Given the description of an element on the screen output the (x, y) to click on. 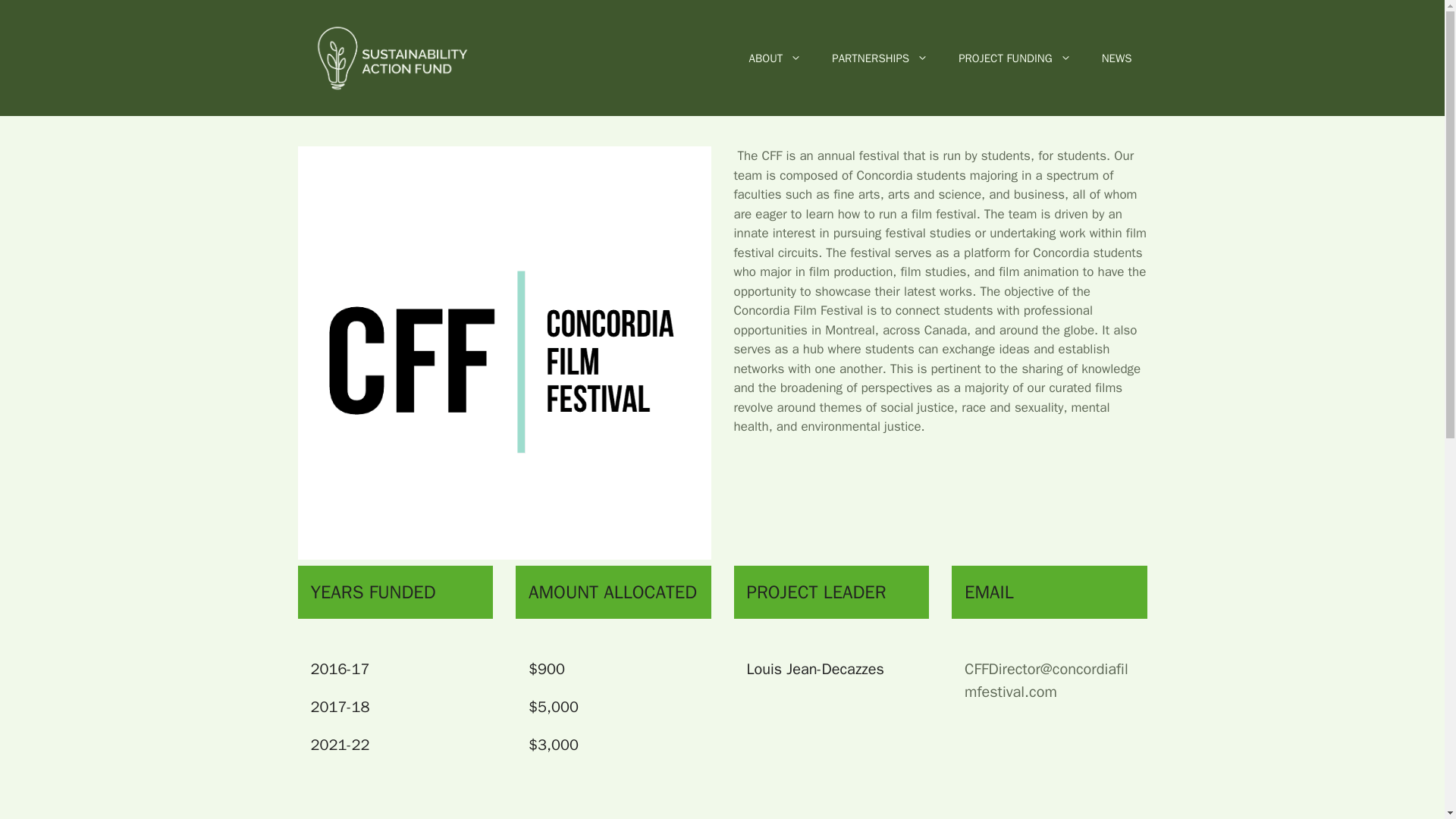
NEWS (1116, 58)
ABOUT (774, 58)
PROJECT FUNDING (1014, 58)
PARTNERSHIPS (879, 58)
